Given the description of an element on the screen output the (x, y) to click on. 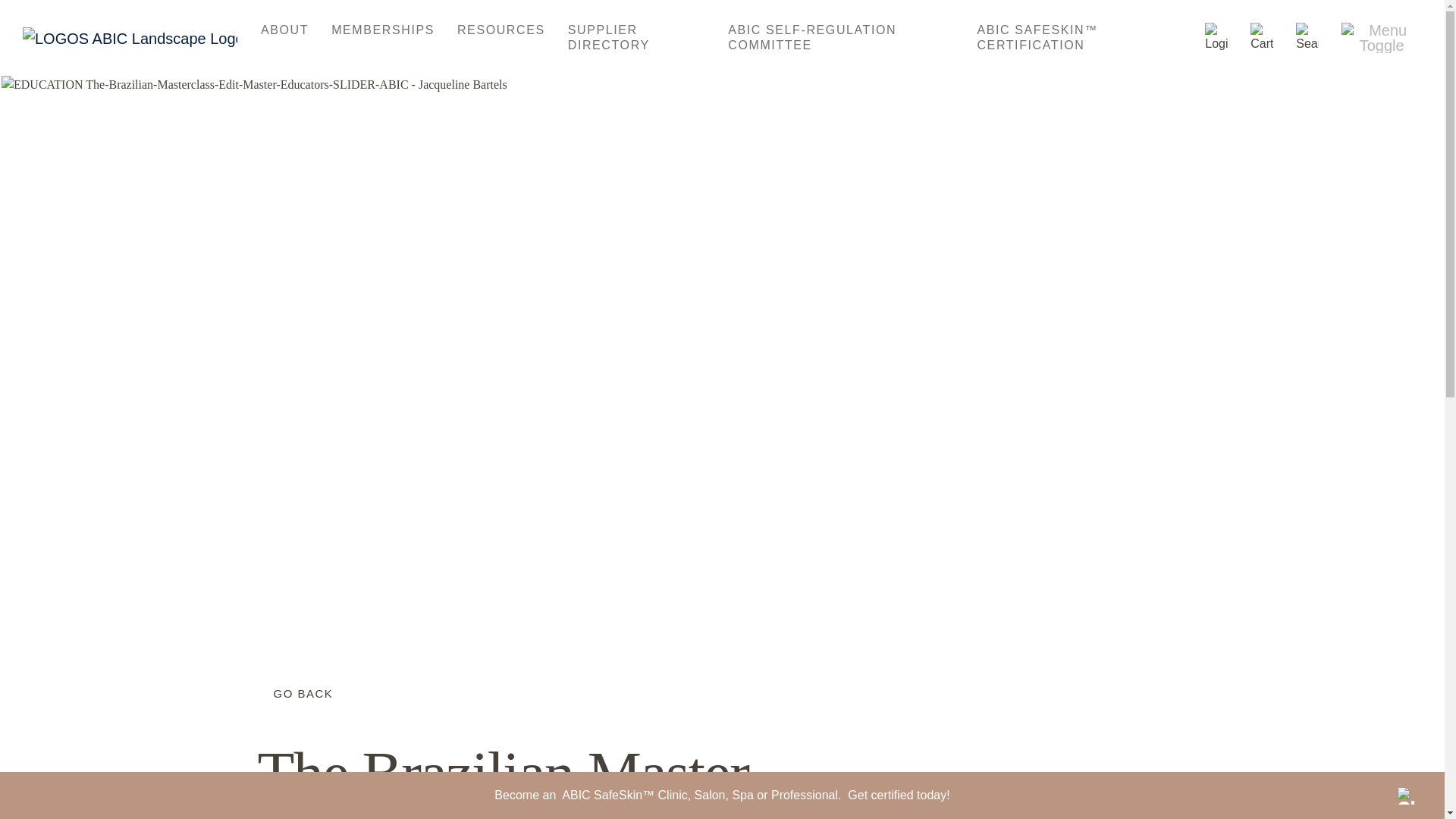
MEMBERSHIPS (382, 30)
ABIC SELF-REGULATION COMMITTEE (840, 37)
RESOURCES (500, 30)
GO BACK (295, 693)
SUPPLIER DIRECTORY (636, 37)
ABOUT (284, 30)
